Given the description of an element on the screen output the (x, y) to click on. 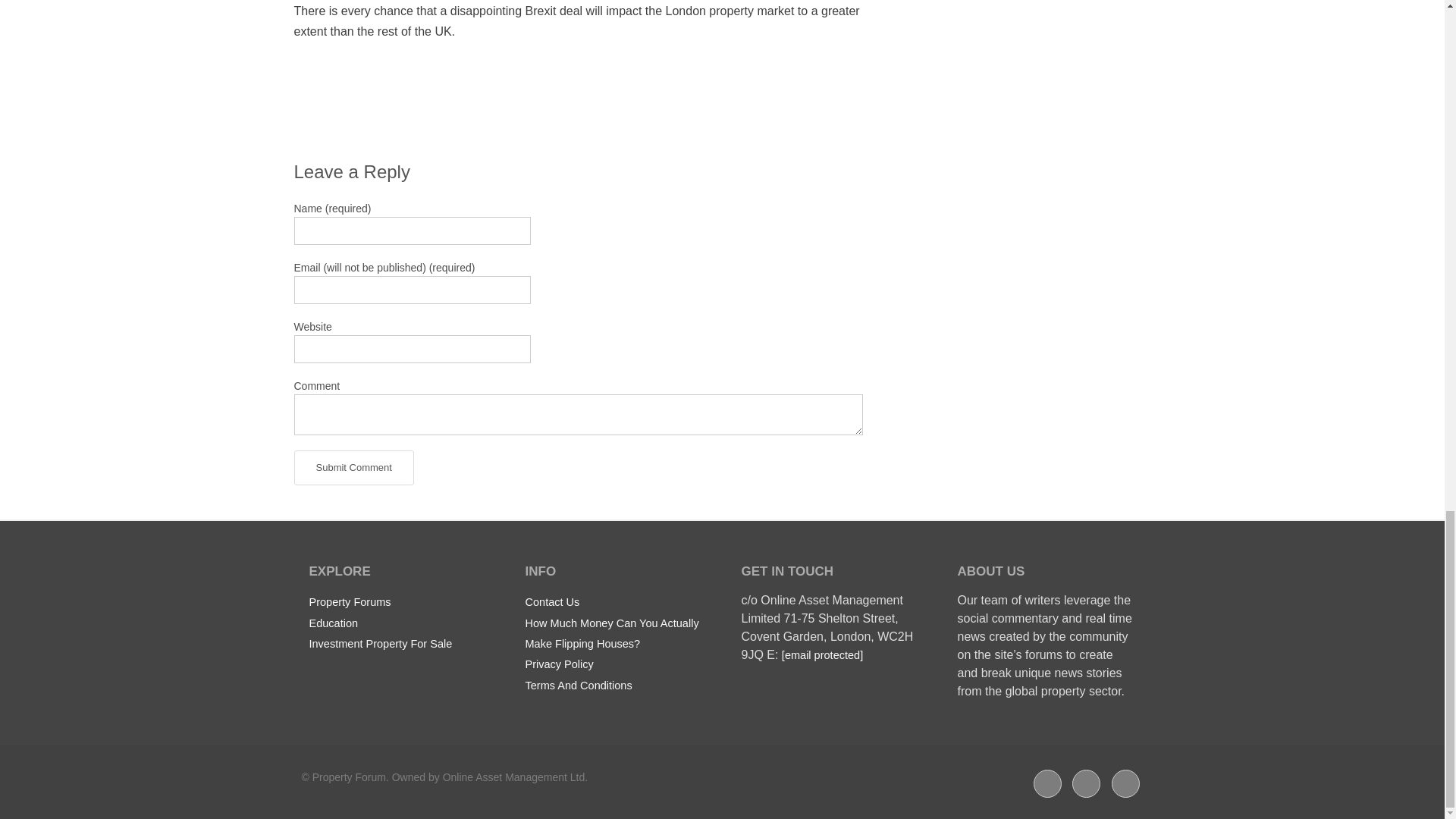
Contact Us (551, 601)
Submit Comment (353, 467)
How Much Money Can You Actually Make Flipping Houses? (611, 633)
Privacy Policy (558, 664)
Property Forums (349, 601)
Submit Comment (353, 467)
Education (333, 623)
Terms And Conditions (577, 685)
Investment Property For Sale (380, 643)
